Given the description of an element on the screen output the (x, y) to click on. 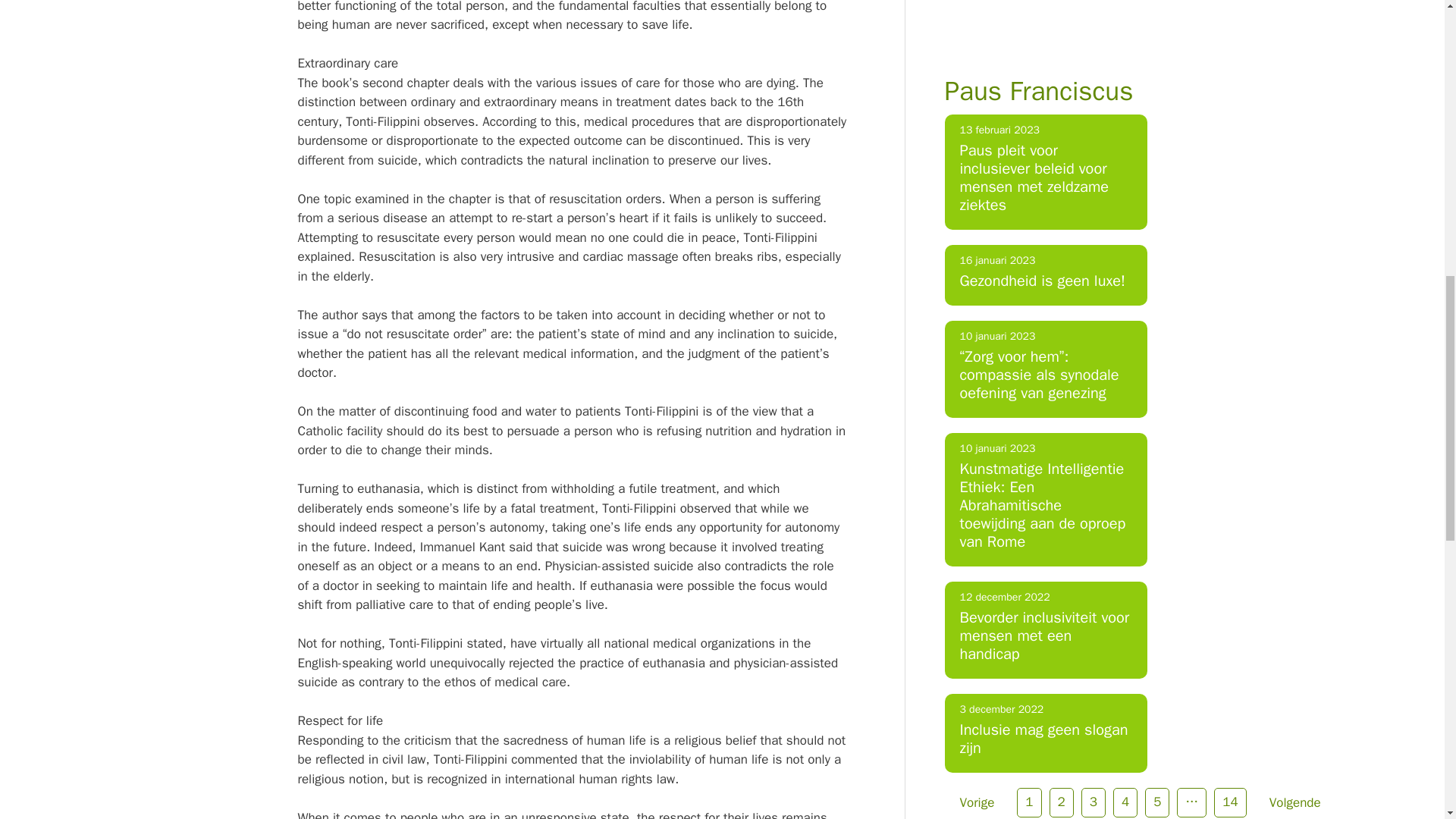
Scroll terug naar boven (1406, 720)
